Given the description of an element on the screen output the (x, y) to click on. 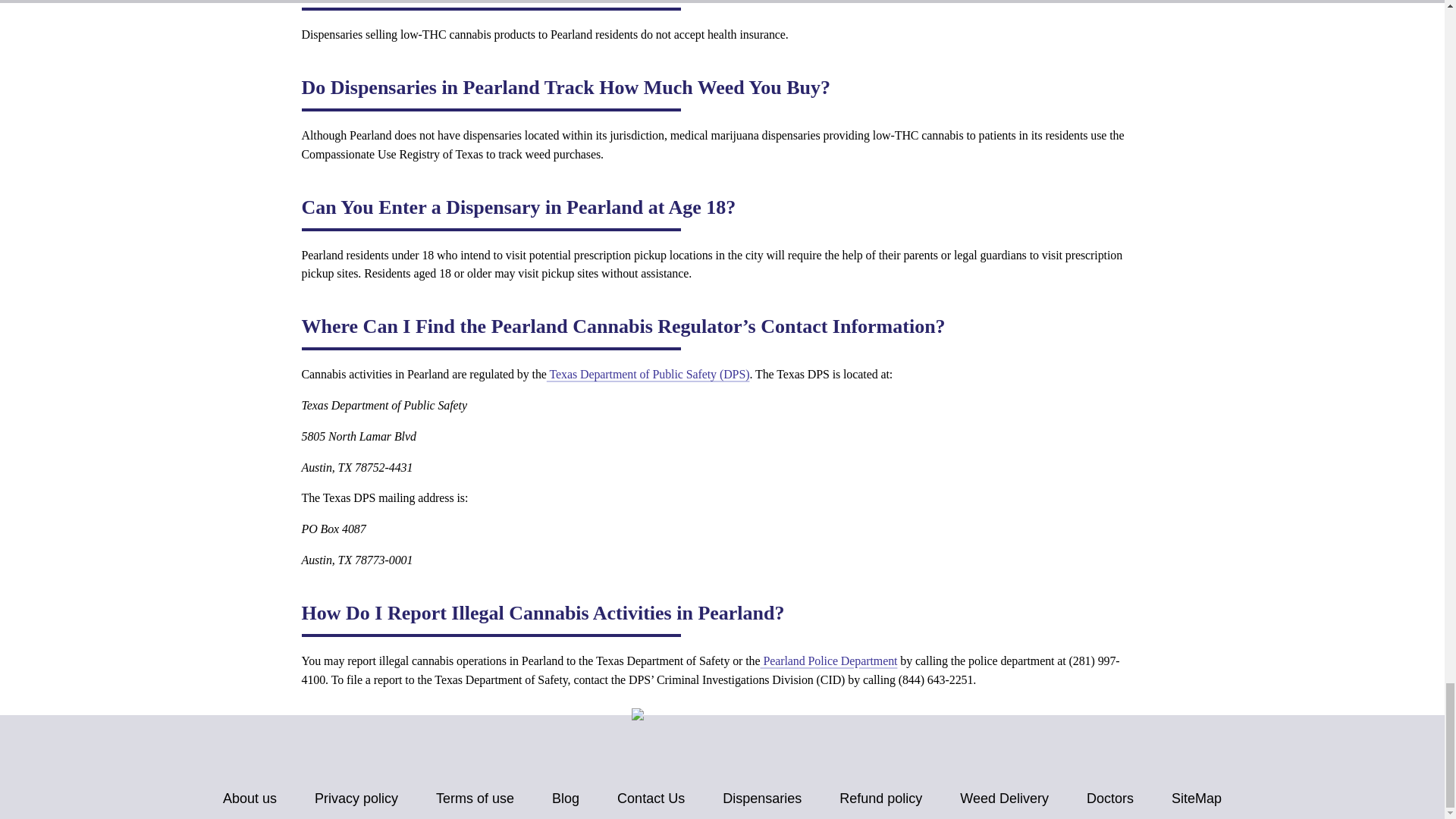
Dispensaries (762, 798)
Contact Us (650, 798)
About us (249, 798)
Terms of use (474, 798)
Privacy policy (355, 798)
Doctors (1110, 798)
Refund policy (880, 798)
SiteMap (1196, 798)
Weed Delivery (1003, 798)
Blog (565, 798)
Pearland Police Department (829, 660)
